Given the description of an element on the screen output the (x, y) to click on. 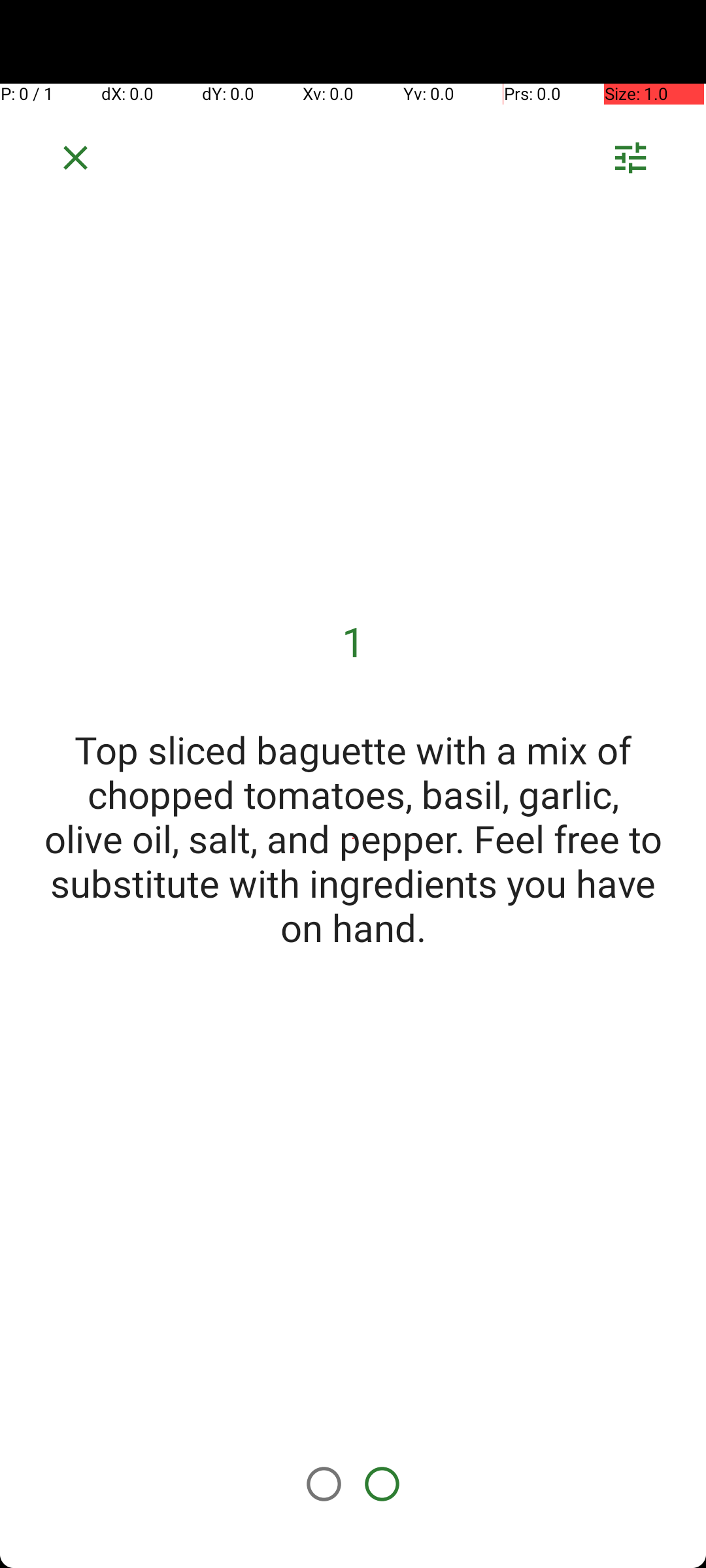
Top sliced baguette with a mix of chopped tomatoes, basil, garlic, olive oil, salt, and pepper. Feel free to substitute with ingredients you have on hand. Element type: android.widget.TextView (352, 837)
